Given the description of an element on the screen output the (x, y) to click on. 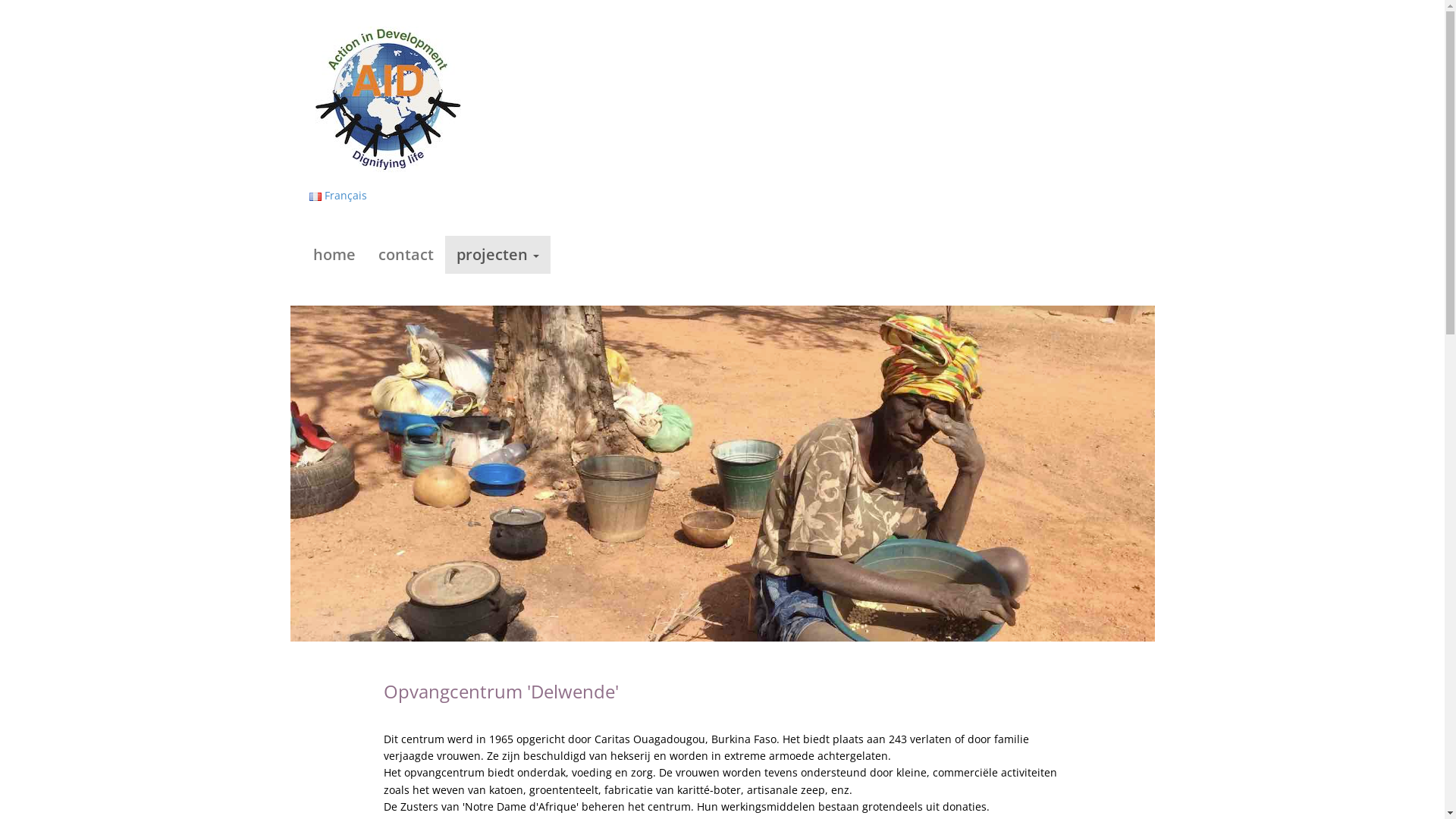
home Element type: text (334, 254)
contact Element type: text (406, 254)
projecten Element type: text (496, 254)
